Given the description of an element on the screen output the (x, y) to click on. 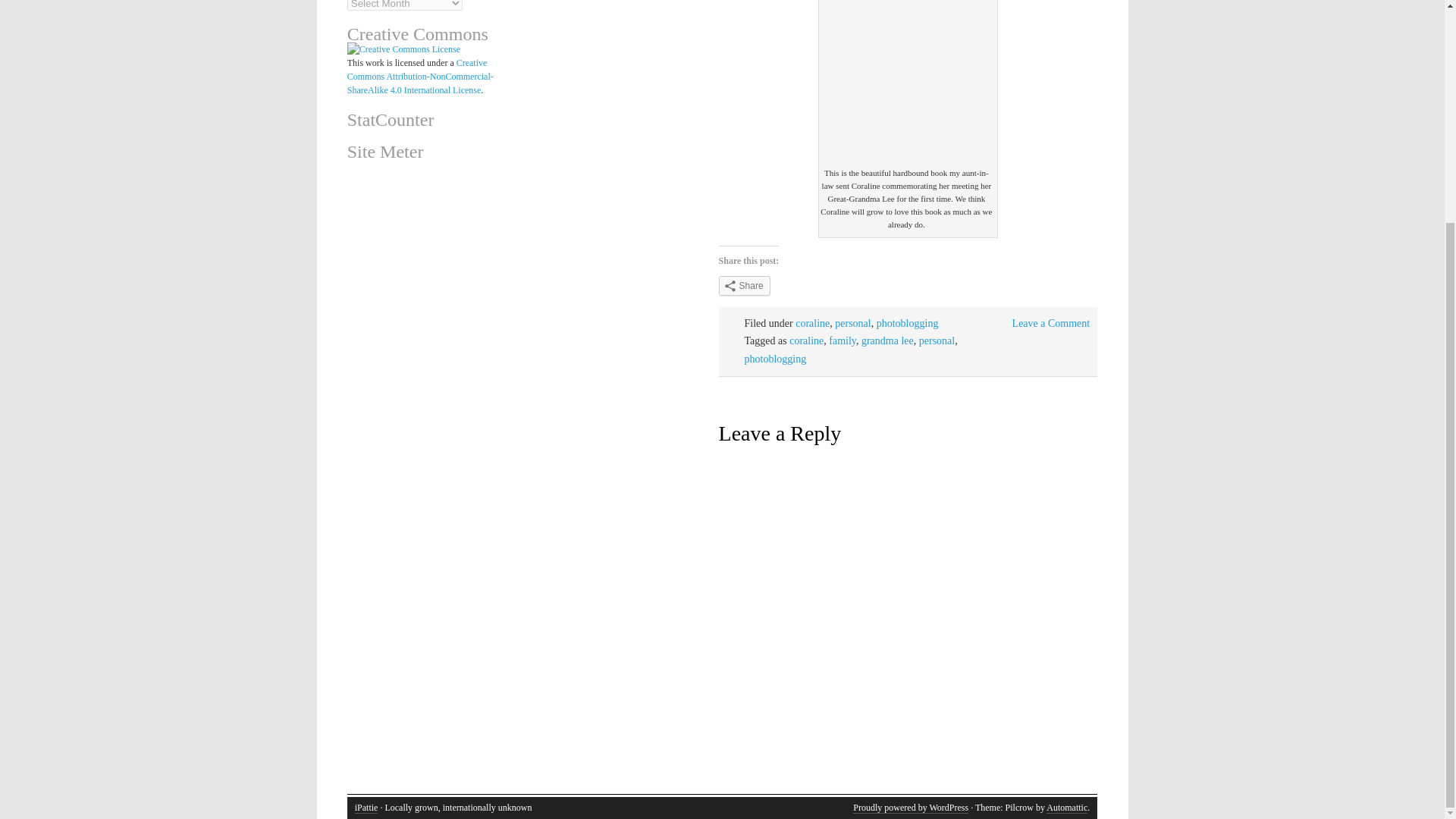
iPattie (366, 808)
Coraline's book (907, 83)
coraline (811, 323)
coraline (806, 340)
Comment Form (908, 625)
grandma lee (887, 340)
photoblogging (775, 358)
A Semantic Personal Publishing Platform (910, 808)
Share (744, 285)
